Given the description of an element on the screen output the (x, y) to click on. 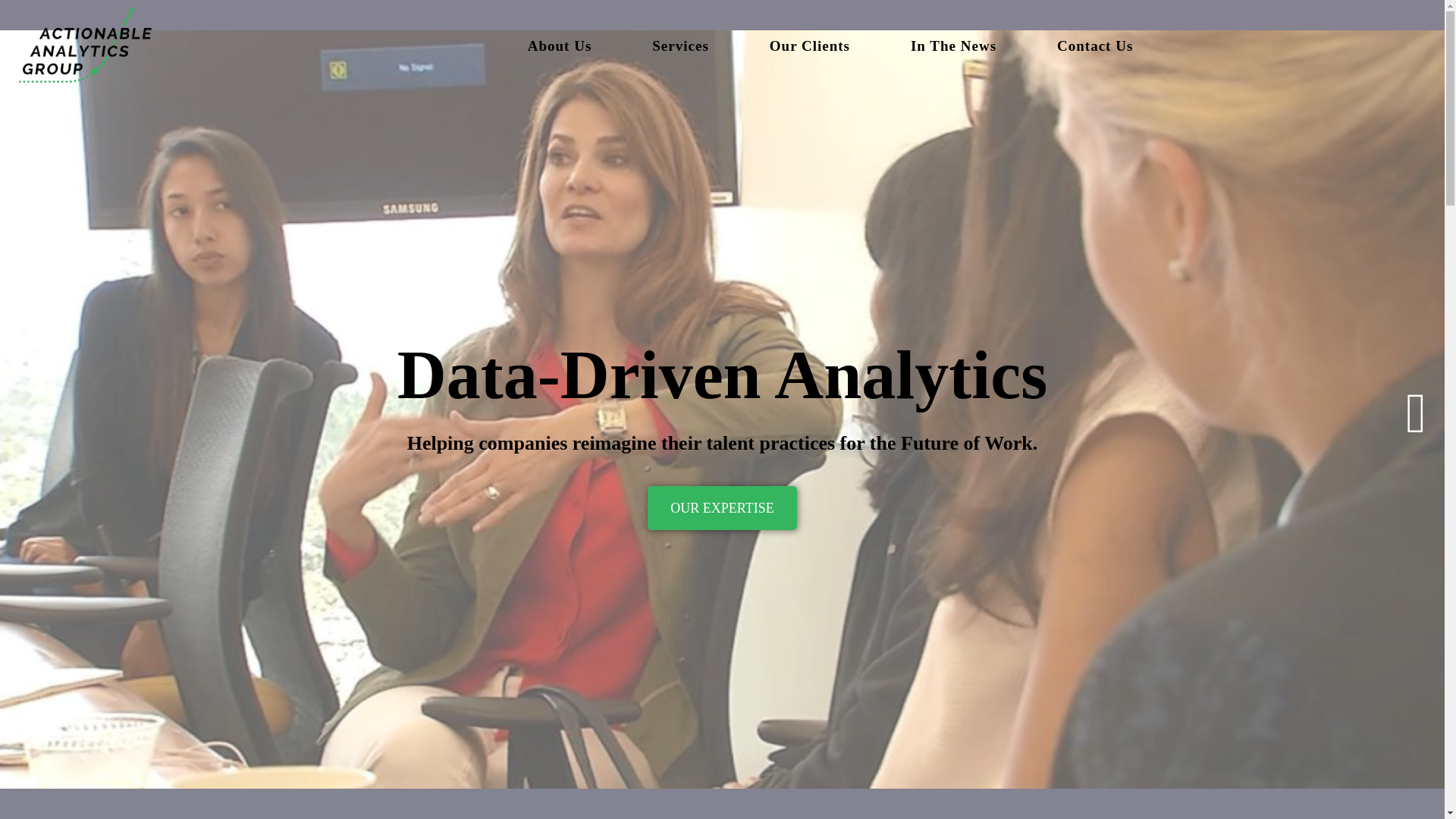
OUR EXPERTISE (721, 507)
Services (679, 46)
Contact Us (1094, 46)
In The News (953, 46)
About Us (559, 46)
Our Clients (809, 46)
